Given the description of an element on the screen output the (x, y) to click on. 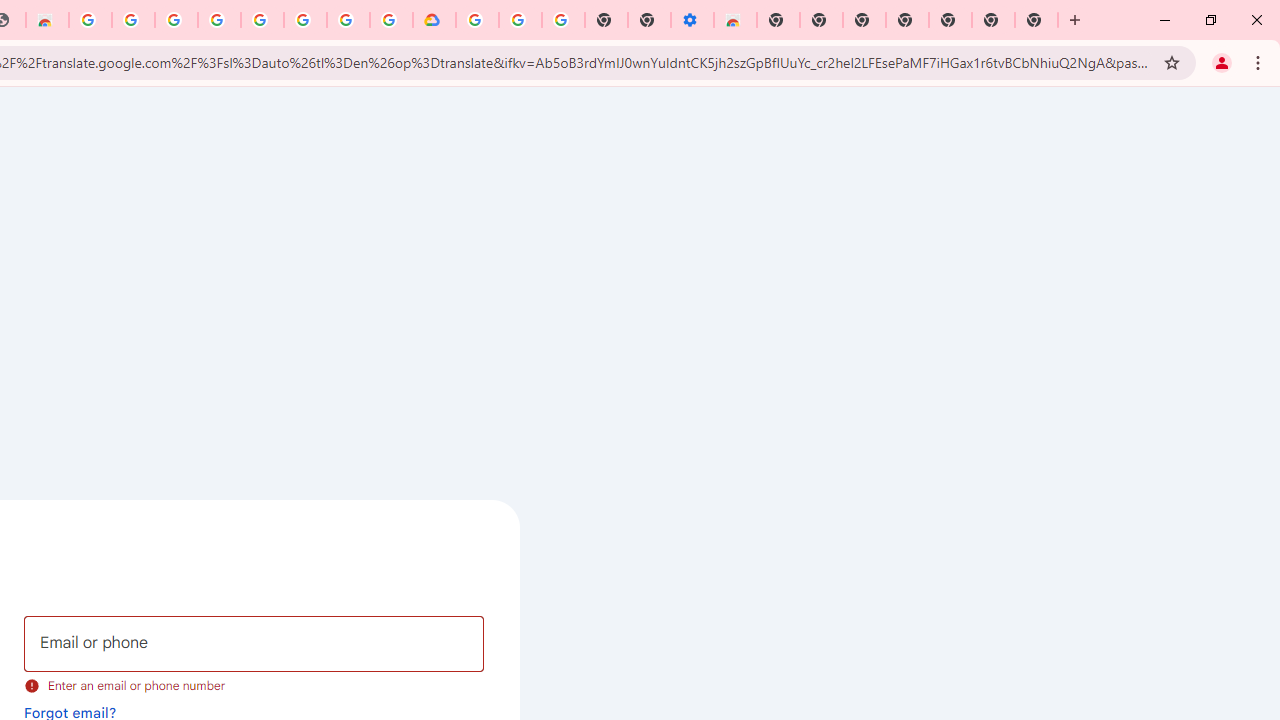
Google Account Help (520, 20)
Sign in - Google Accounts (347, 20)
Sign in - Google Accounts (477, 20)
Chrome Web Store - Accessibility extensions (735, 20)
Email or phone (253, 643)
Google Account Help (219, 20)
Turn cookies on or off - Computer - Google Account Help (562, 20)
Sign in - Google Accounts (176, 20)
New Tab (777, 20)
